Given the description of an element on the screen output the (x, y) to click on. 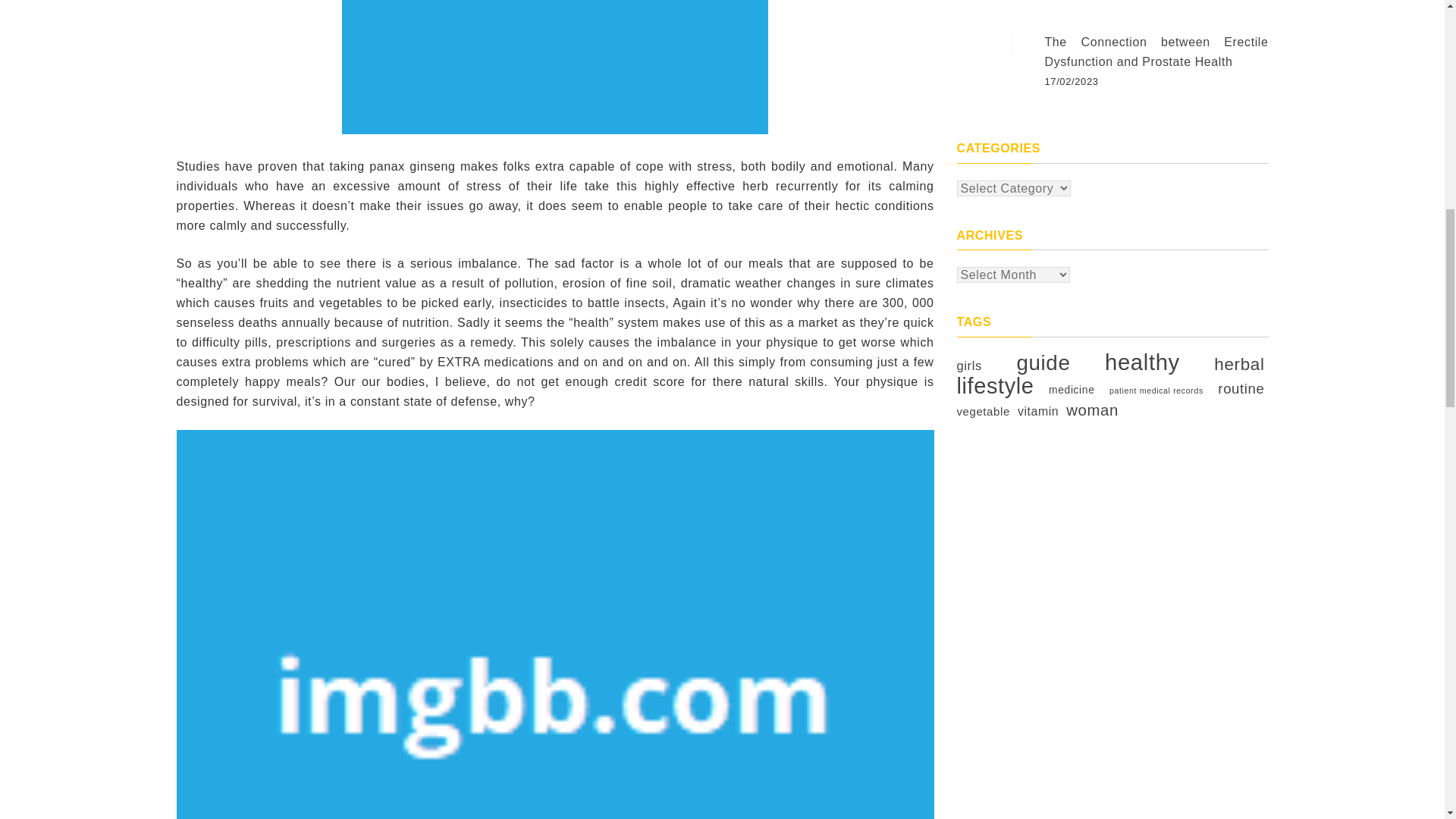
Nose Job: A Comprehensive Guide (984, 10)
guide (1043, 362)
lifestyle (994, 385)
healthy (1142, 362)
girls (968, 365)
herbal (1238, 364)
